Given the description of an element on the screen output the (x, y) to click on. 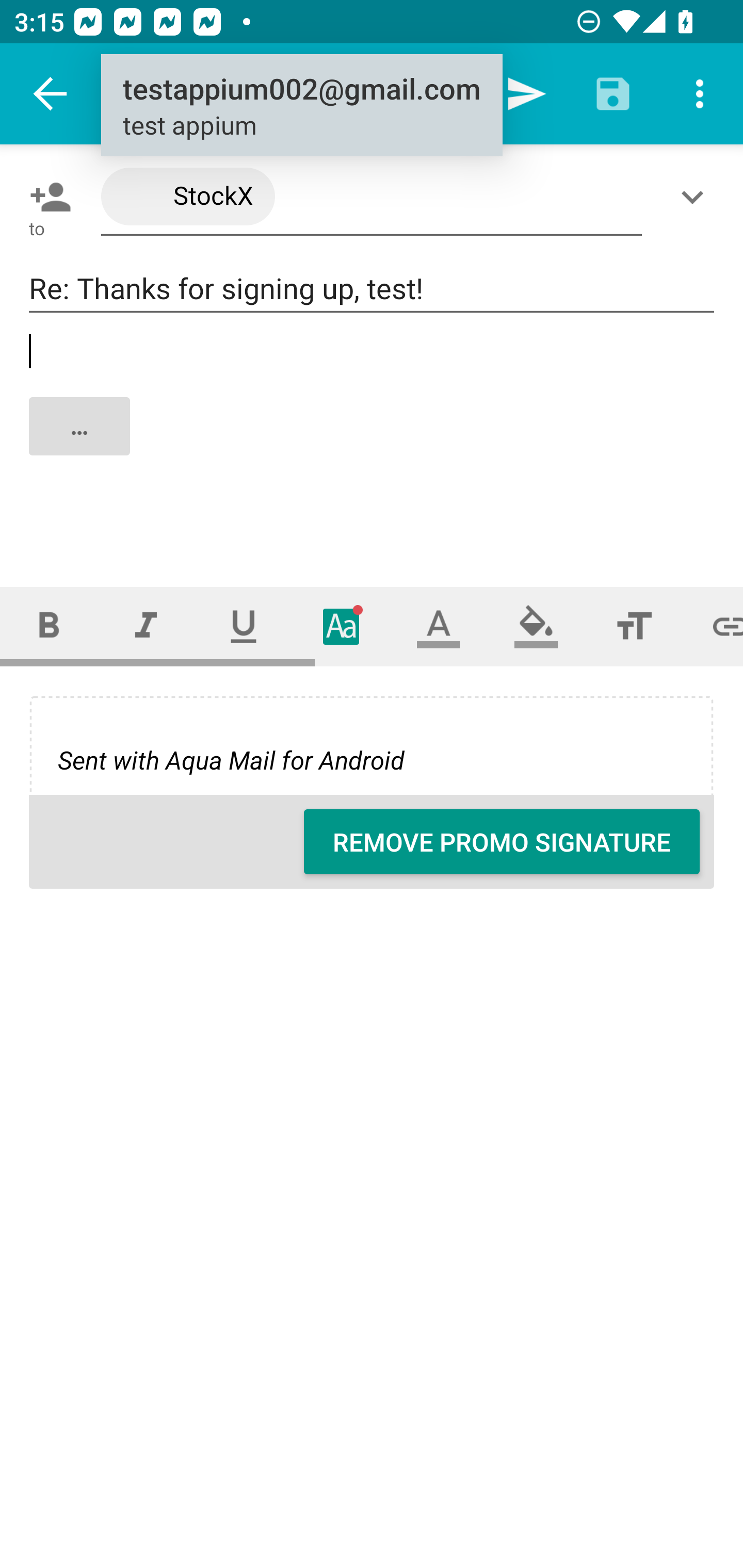
testappium002@gmail.com test appium (301, 105)
